Given the description of an element on the screen output the (x, y) to click on. 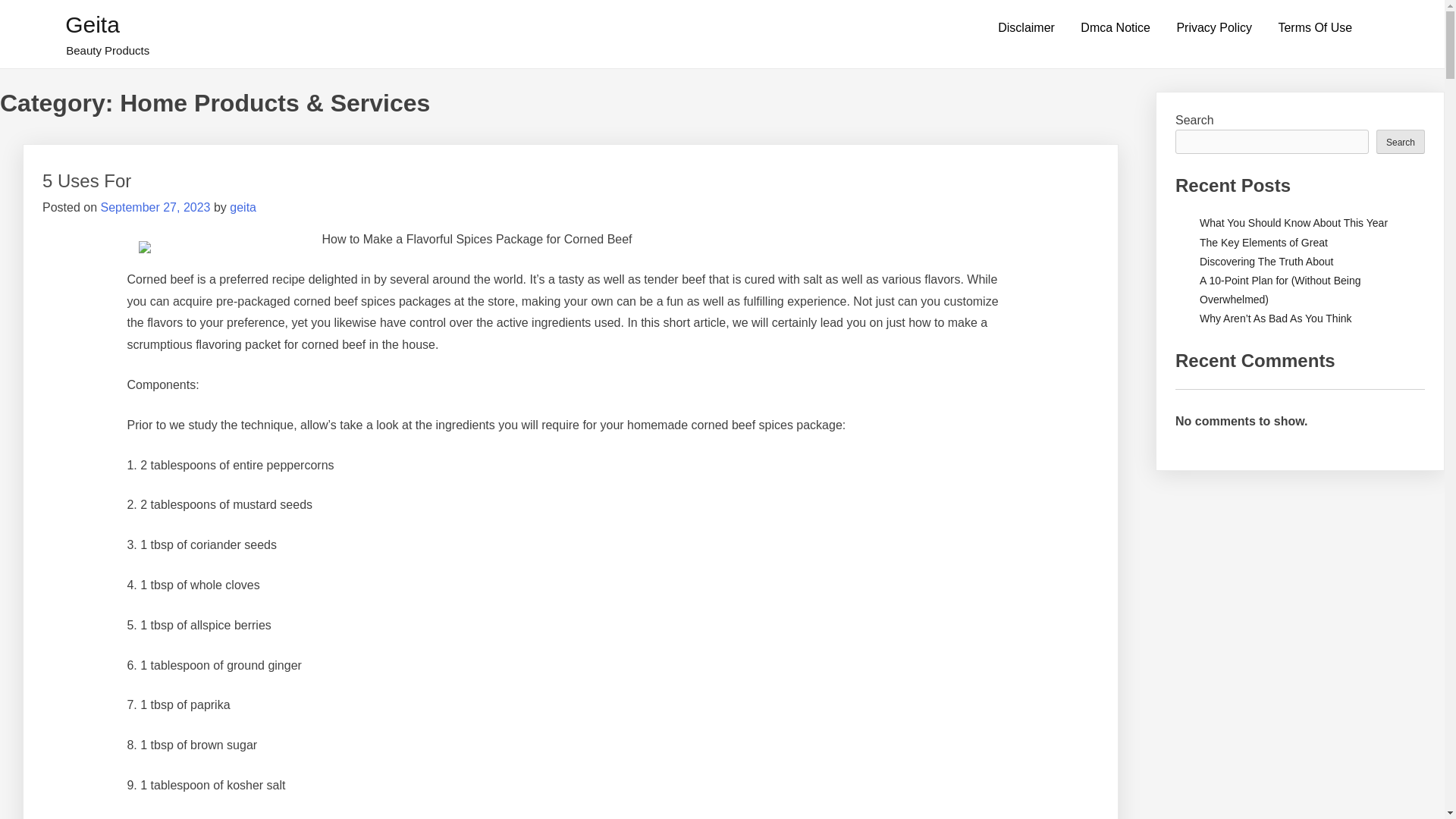
September 27, 2023 (154, 206)
Privacy Policy (1213, 28)
geita (243, 206)
Terms Of Use (1314, 28)
Geita (92, 24)
Disclaimer (1026, 28)
Dmca Notice (1114, 28)
5 Uses For (86, 180)
